Given the description of an element on the screen output the (x, y) to click on. 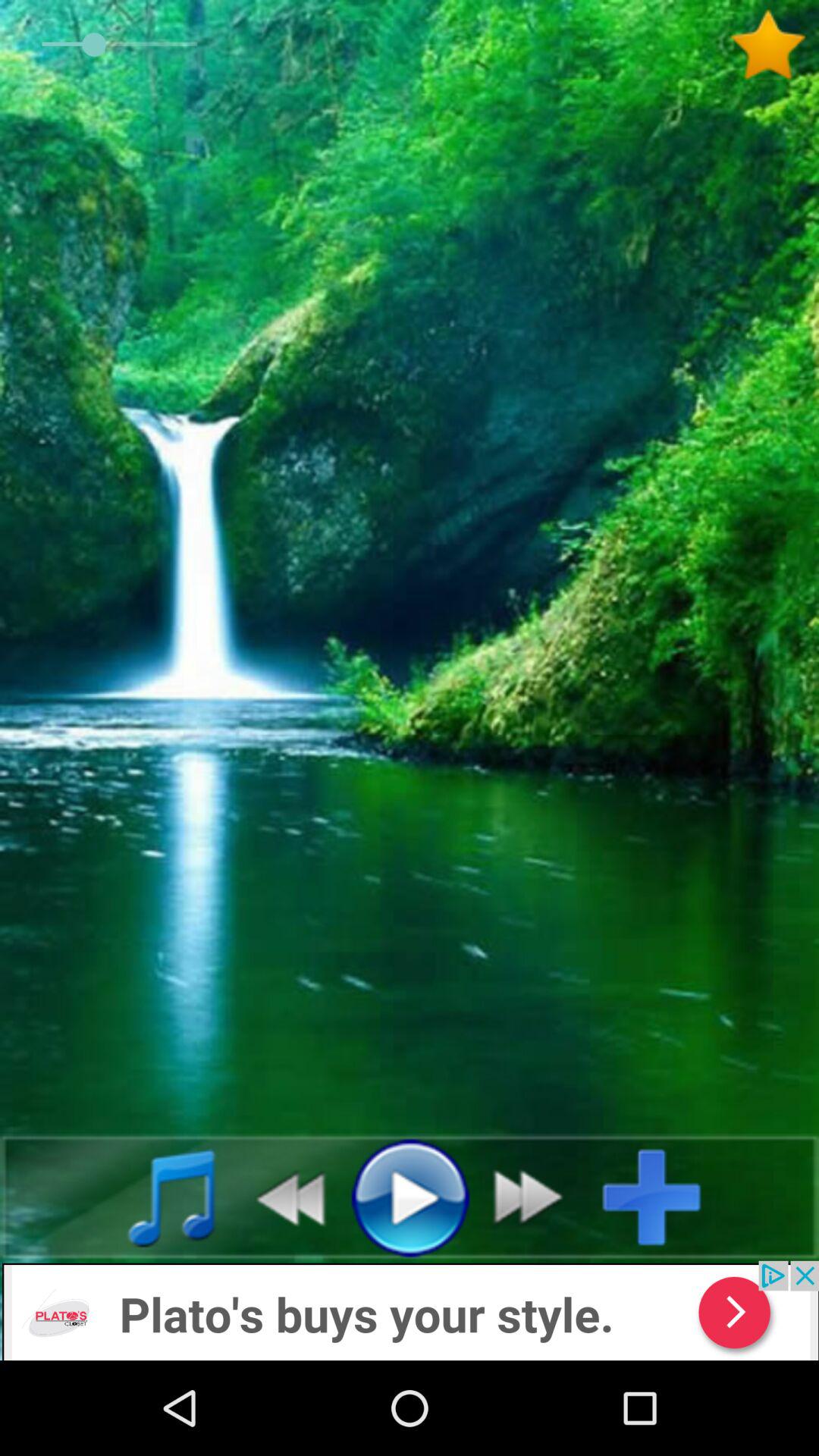
save to favorites (774, 44)
